Given the description of an element on the screen output the (x, y) to click on. 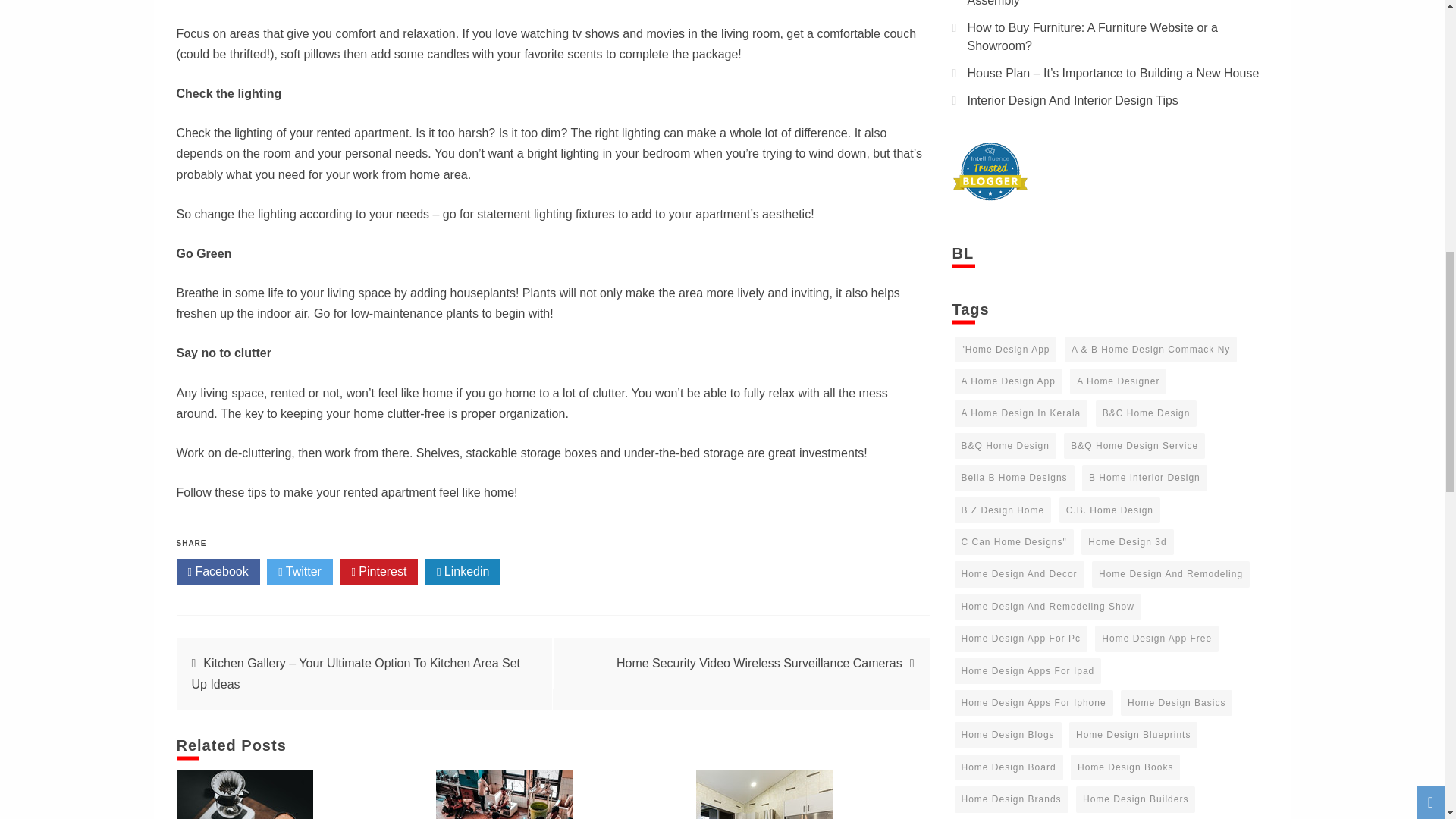
7 Tips For Finding A Home To Buy (503, 794)
Linkedin (462, 571)
Pinterest (378, 571)
Home Security Video Wireless Surveillance Cameras (758, 662)
Twitter (299, 571)
Facebook (217, 571)
Car Insurance News: New Services And Latest Trends (244, 794)
